Given the description of an element on the screen output the (x, y) to click on. 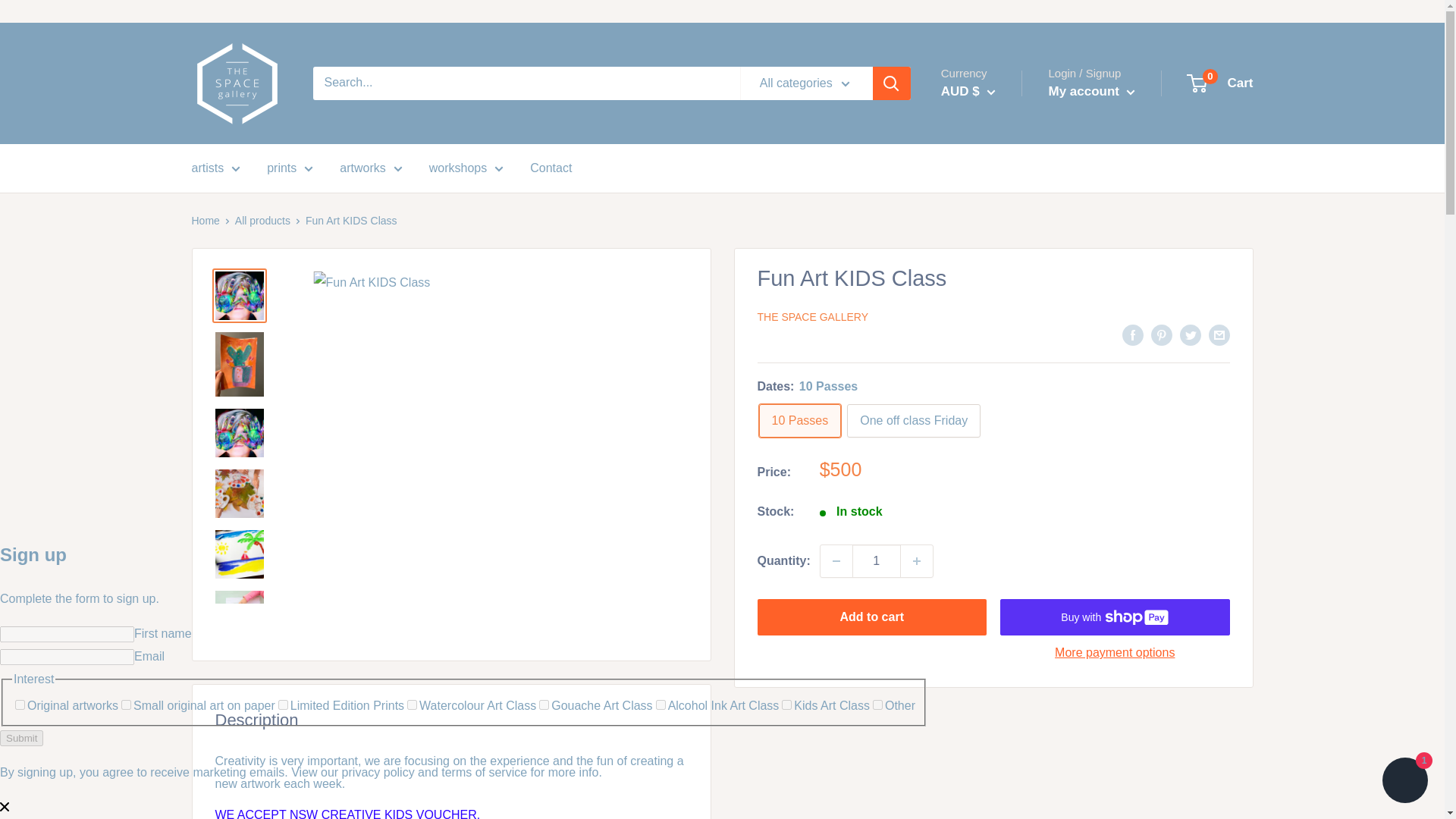
1 (876, 561)
Decrease quantity by 1 (836, 561)
Shopify online store chat (1404, 781)
10 Passes (799, 421)
One off class Friday (913, 421)
Increase quantity by 1 (917, 561)
